Given the description of an element on the screen output the (x, y) to click on. 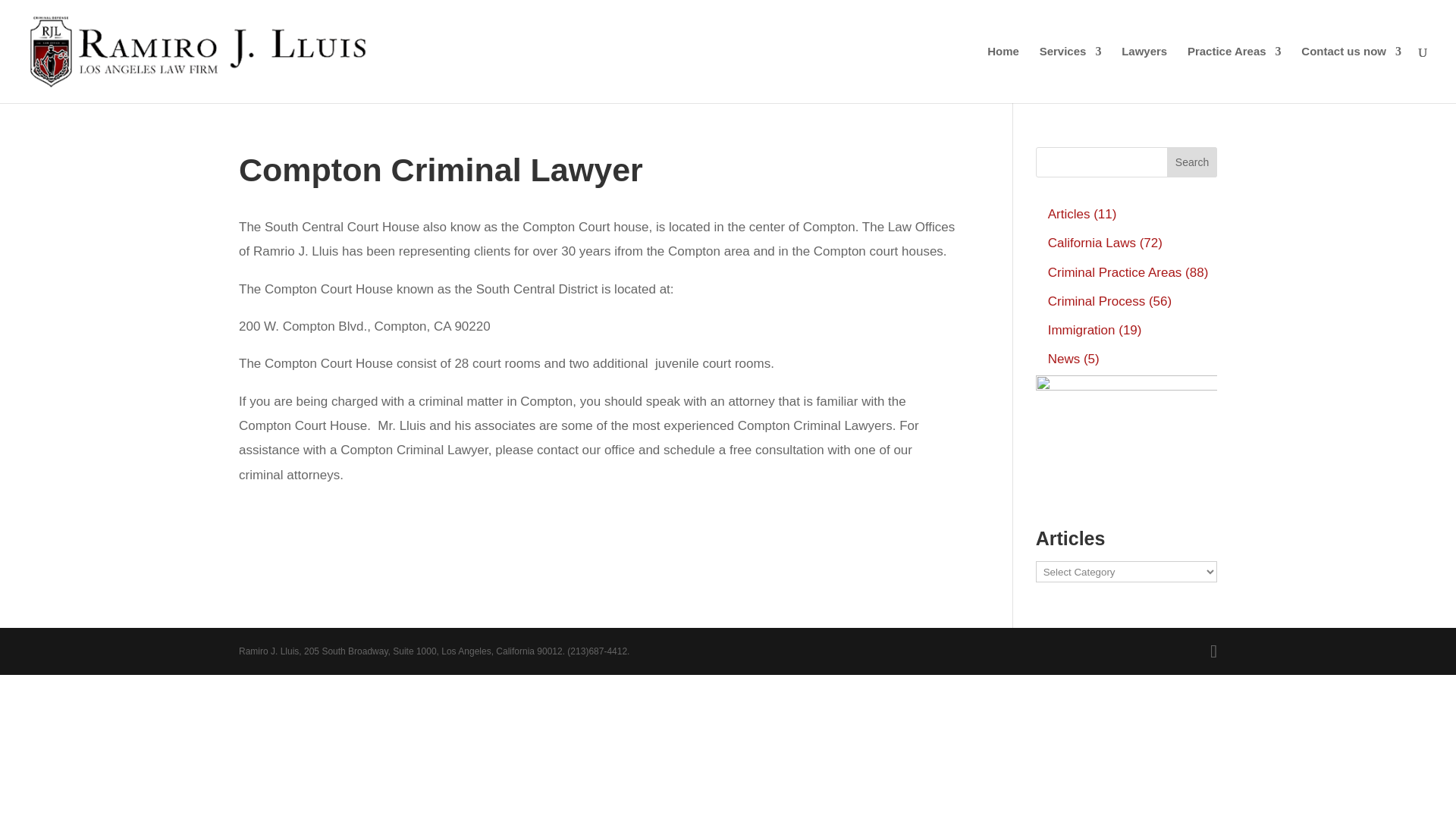
Contact us now (1350, 74)
Practice Areas (1234, 74)
Search (1192, 162)
Services (1070, 74)
